Given the description of an element on the screen output the (x, y) to click on. 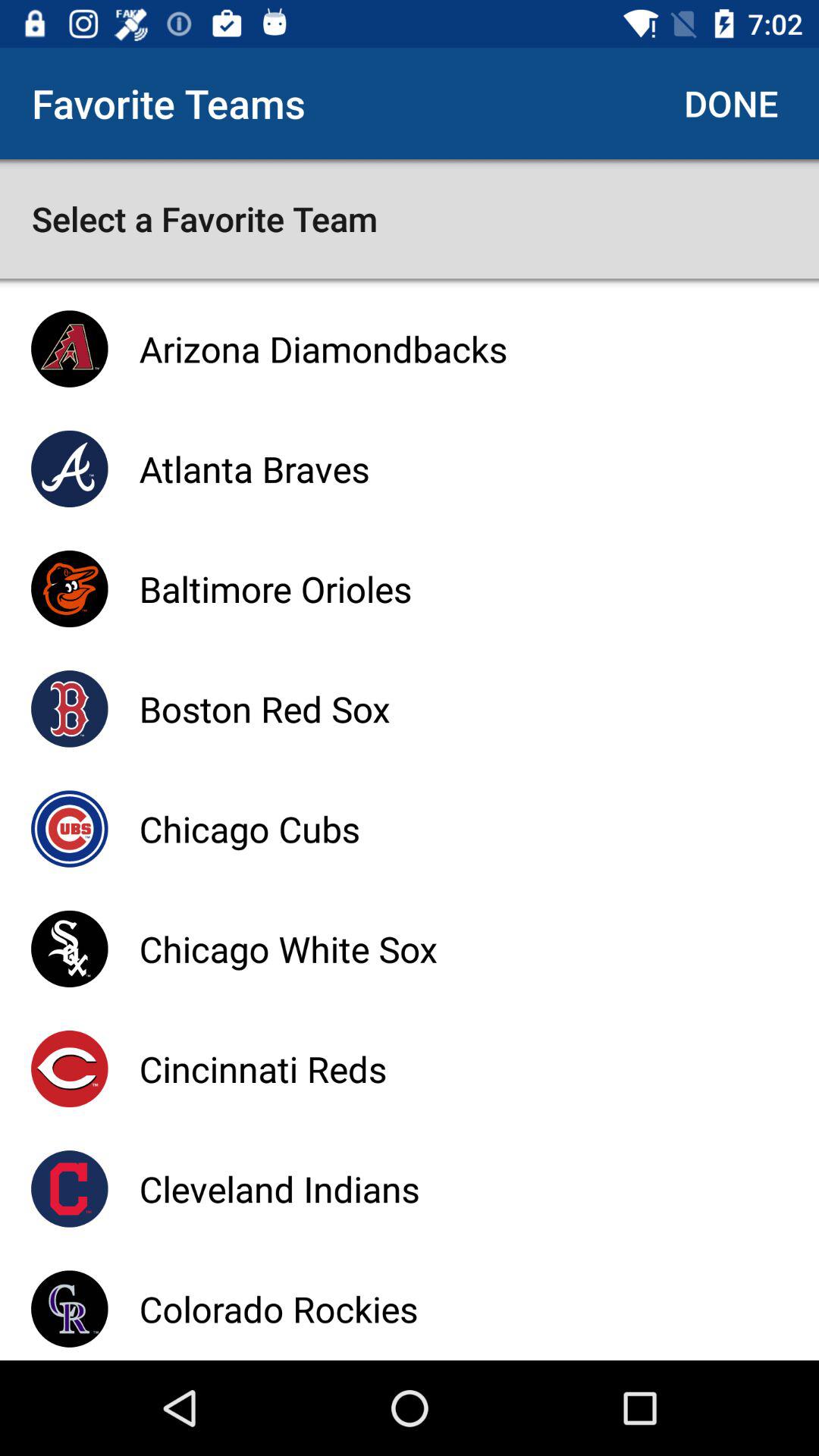
press item to the right of the favorite teams icon (731, 103)
